Given the description of an element on the screen output the (x, y) to click on. 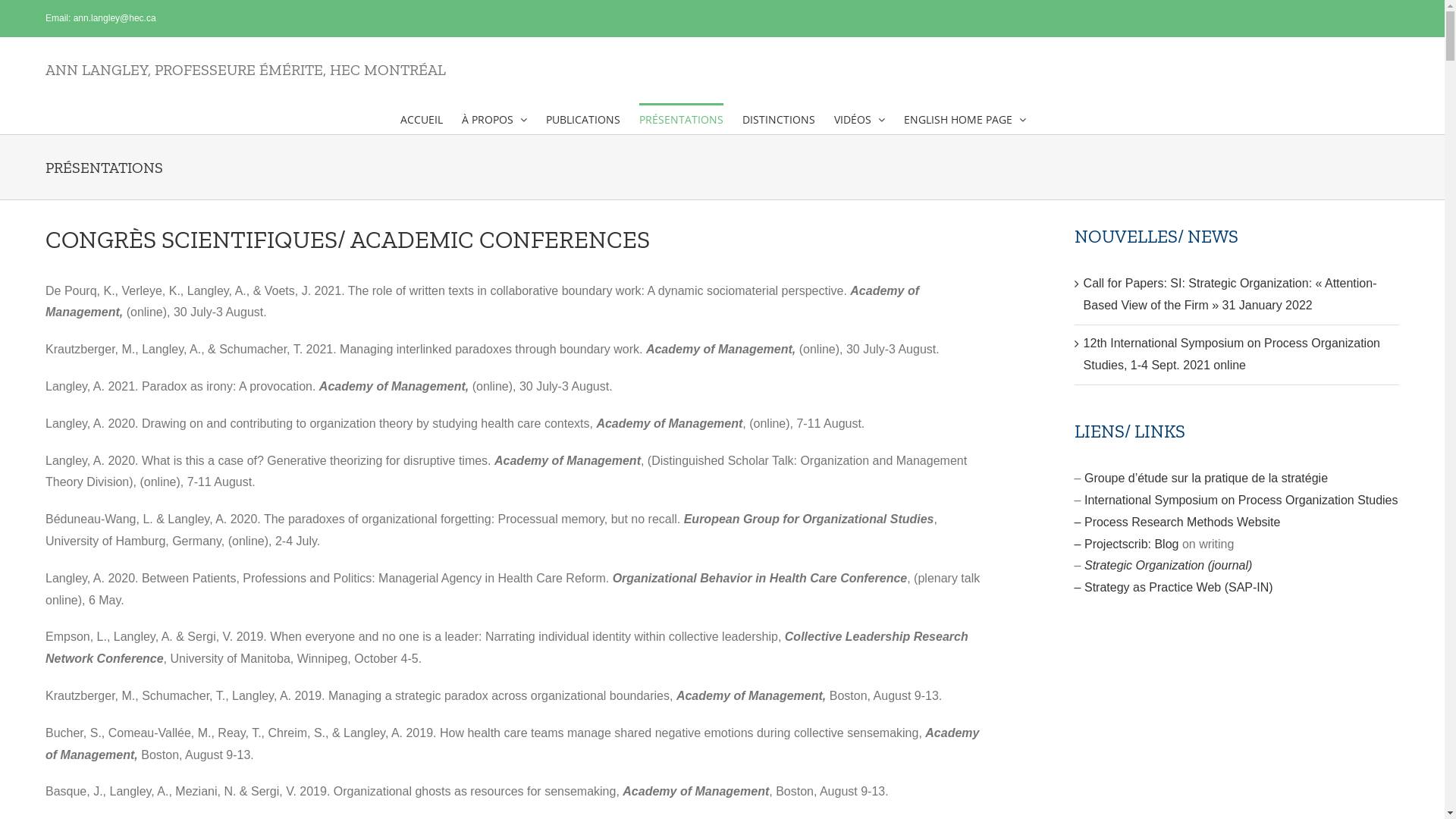
DISTINCTIONS Element type: text (777, 118)
Strategic Organization (journal) Element type: text (1168, 564)
Email: ann.langley@hec.ca Element type: text (100, 17)
International Symposium on Process Organization Studies Element type: text (1241, 499)
ENGLISH HOME PAGE Element type: text (964, 118)
PUBLICATIONS Element type: text (583, 118)
ACCUEIL Element type: text (421, 118)
